Given the description of an element on the screen output the (x, y) to click on. 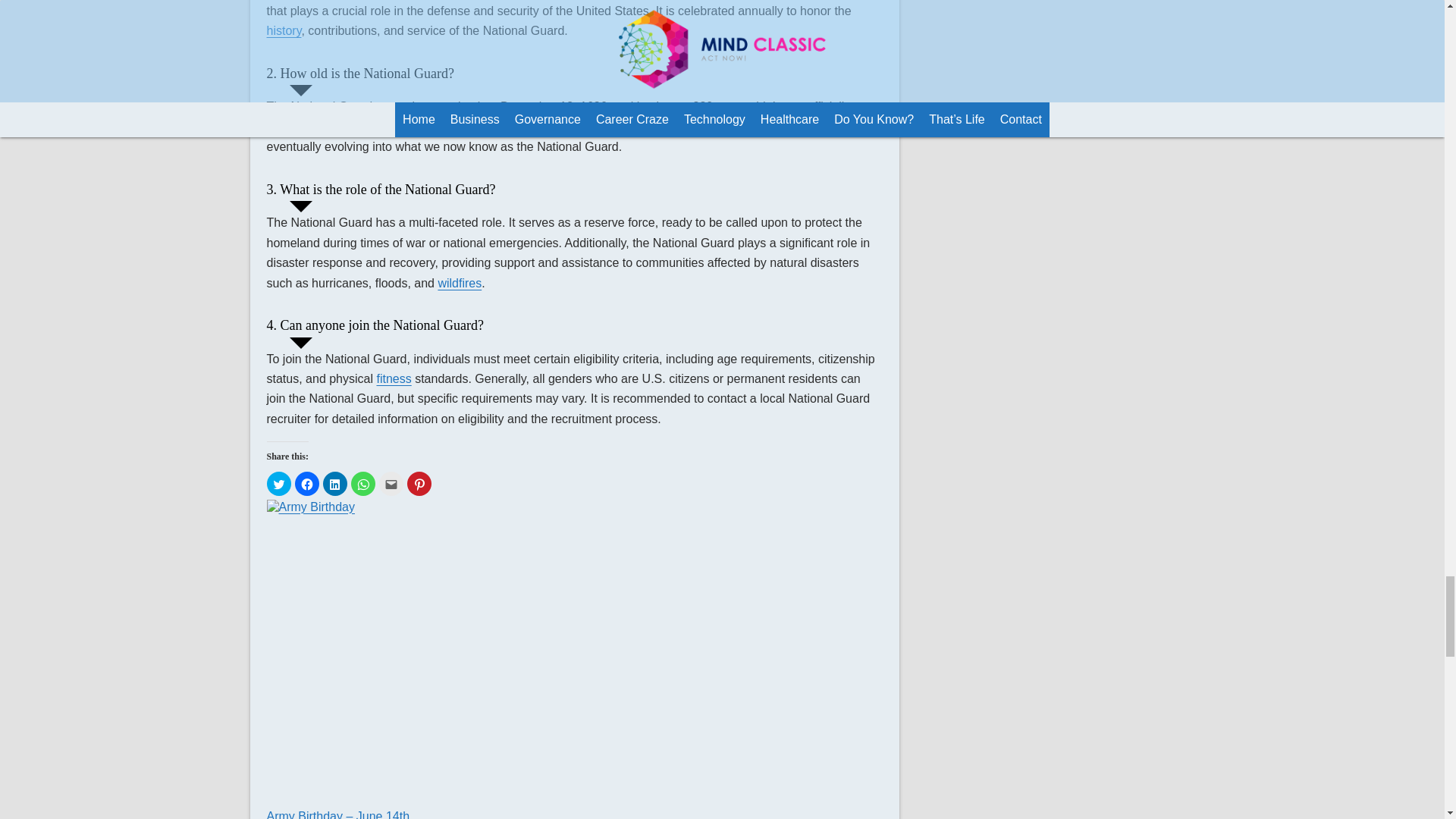
Click to share on LinkedIn (335, 483)
Click to share on Pinterest (418, 483)
Click to share on Facebook (306, 483)
Click to share on Twitter (278, 483)
Click to share on Email (390, 483)
Click to share on WhatsApp (362, 483)
